Given the description of an element on the screen output the (x, y) to click on. 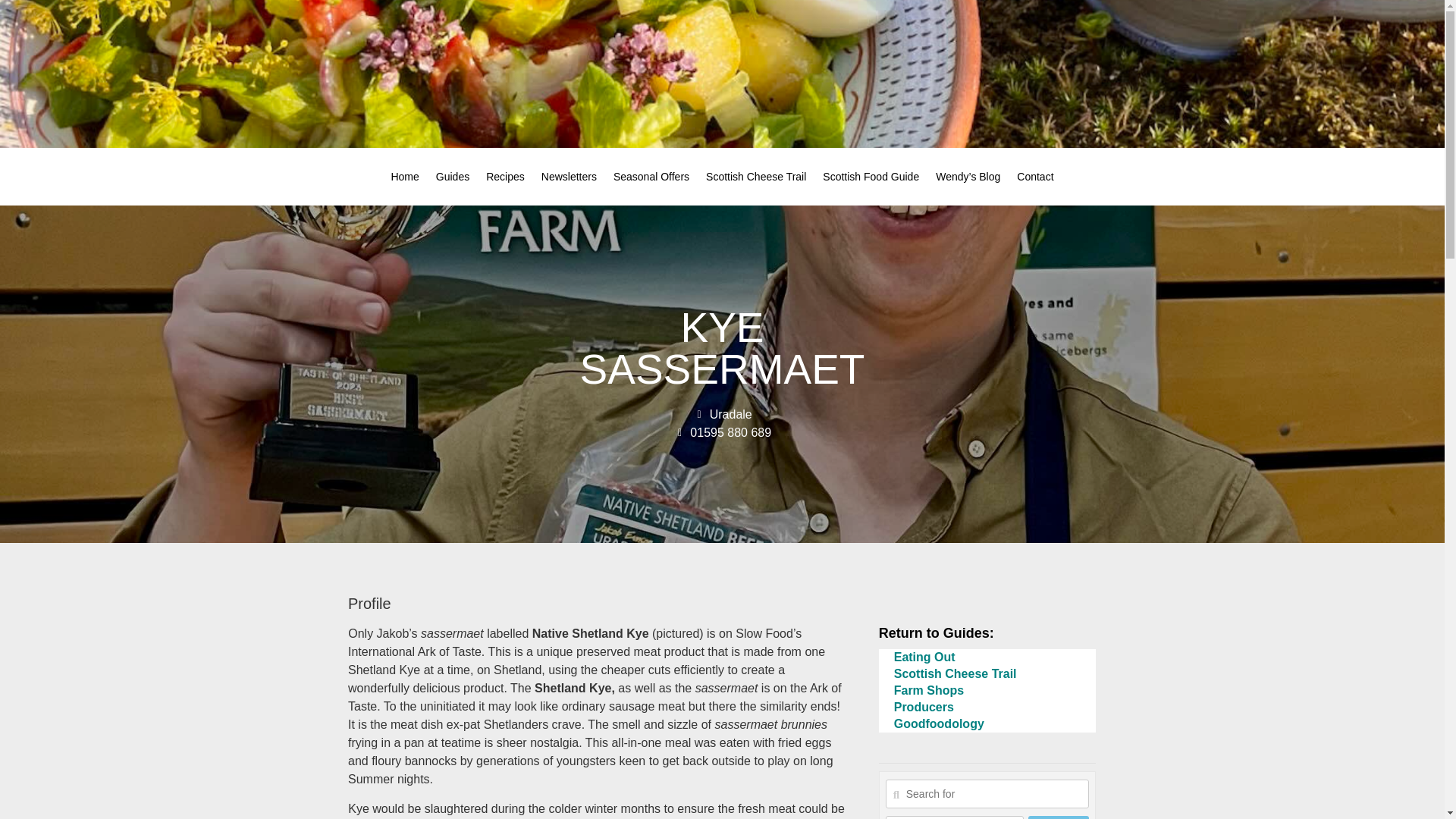
Newsletters (568, 176)
Home (403, 176)
Contact (1035, 176)
Scottish Cheese Trail (755, 176)
Recipes (504, 176)
Seasonal Offers (651, 176)
Guides (452, 176)
Scottish Food Guide (870, 176)
